Given the description of an element on the screen output the (x, y) to click on. 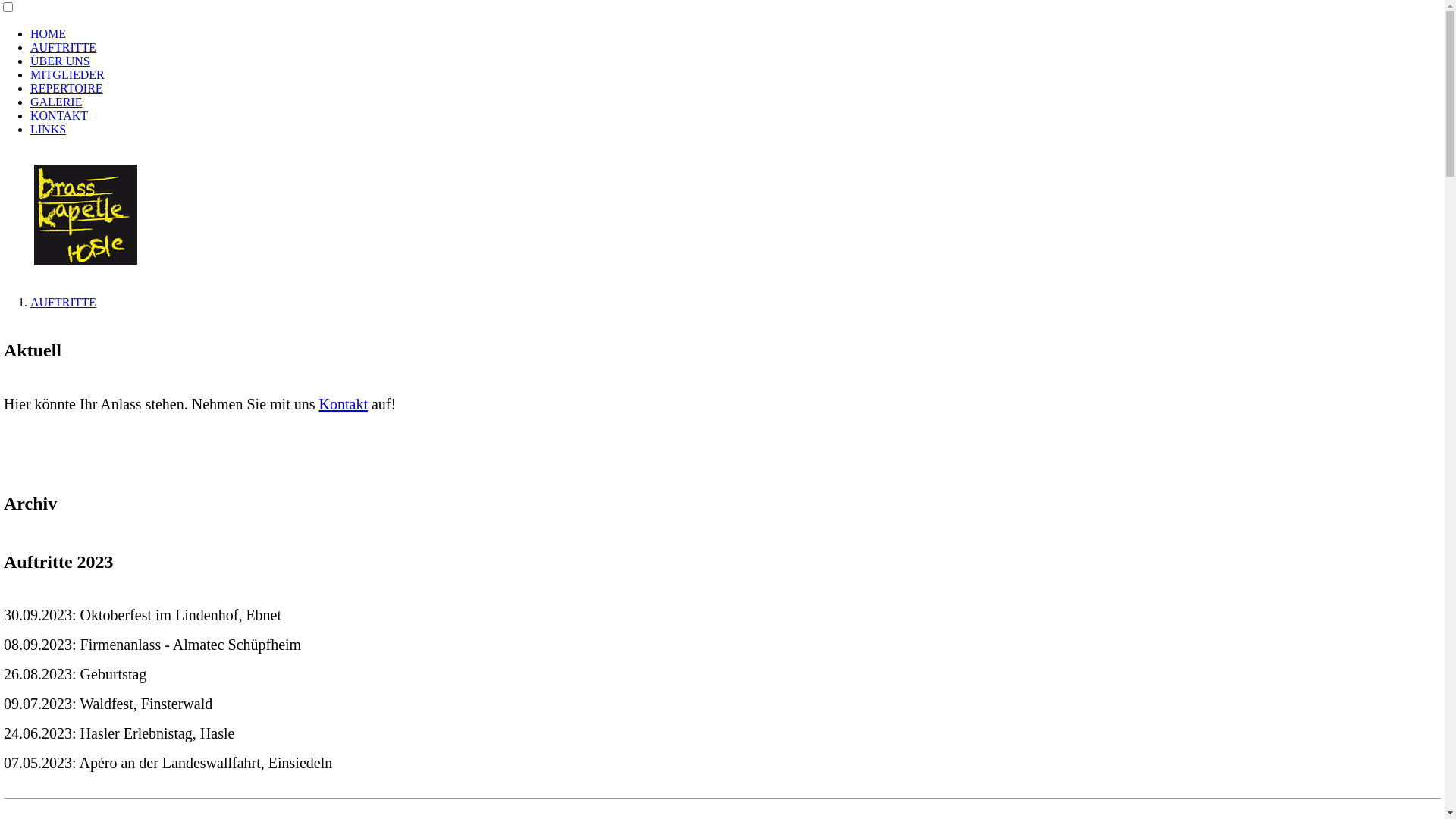
KONTAKT Element type: text (58, 115)
REPERTOIRE Element type: text (66, 87)
HOME Element type: text (47, 33)
GALERIE Element type: text (55, 101)
MITGLIEDER Element type: text (67, 74)
AUFTRITTE Element type: text (63, 46)
Kontakt Element type: text (342, 403)
LINKS Element type: text (47, 128)
AUFTRITTE Element type: text (63, 301)
